Given the description of an element on the screen output the (x, y) to click on. 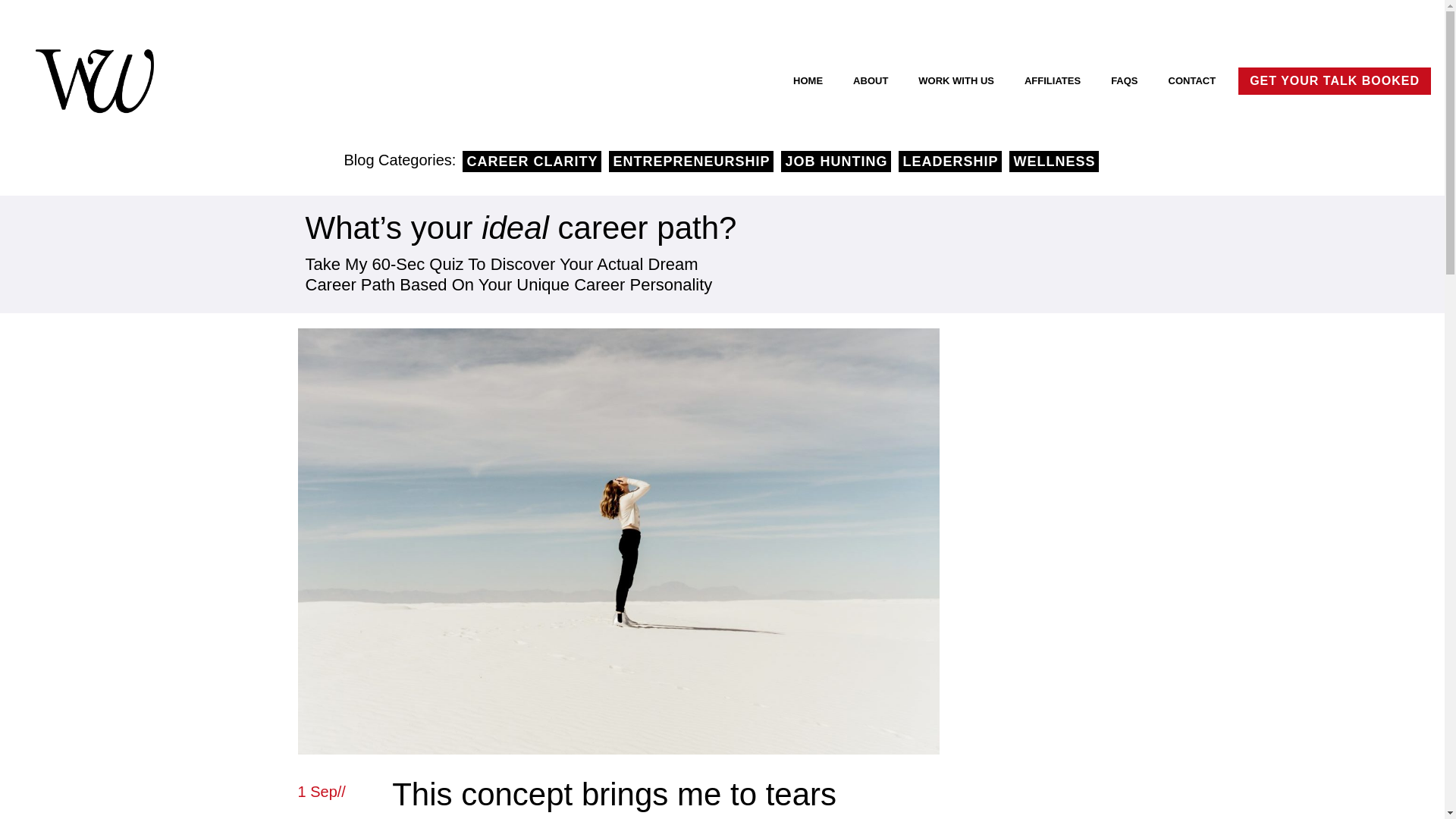
JOB HUNTING (835, 160)
GET YOUR TALK BOOKED (1335, 81)
ENTREPRENEURSHIP (690, 160)
LEADERSHIP (949, 160)
CONTACT (1192, 80)
WORK WITH US (955, 80)
ABOUT (870, 80)
FAQS (1124, 80)
HOME (807, 80)
WELLNESS (1054, 160)
